Given the description of an element on the screen output the (x, y) to click on. 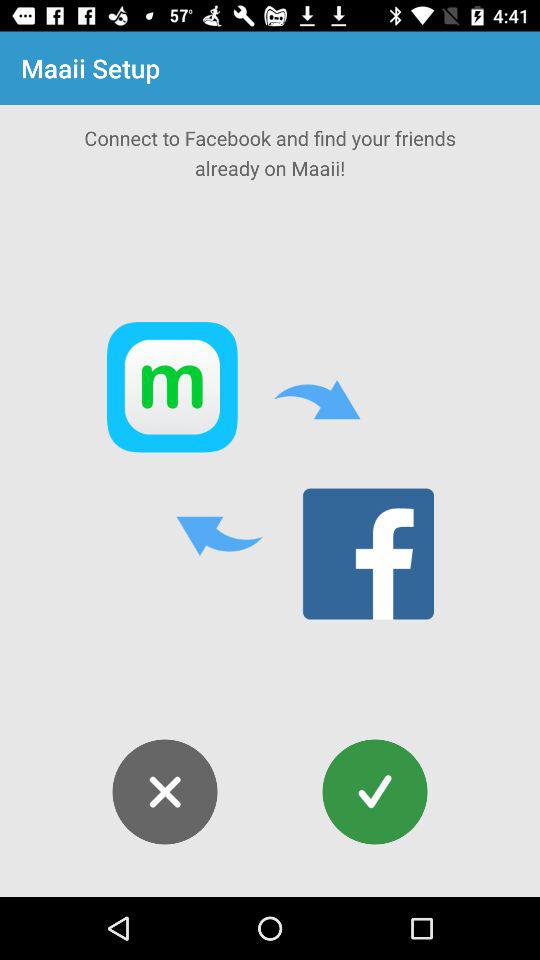
cancel (164, 791)
